Given the description of an element on the screen output the (x, y) to click on. 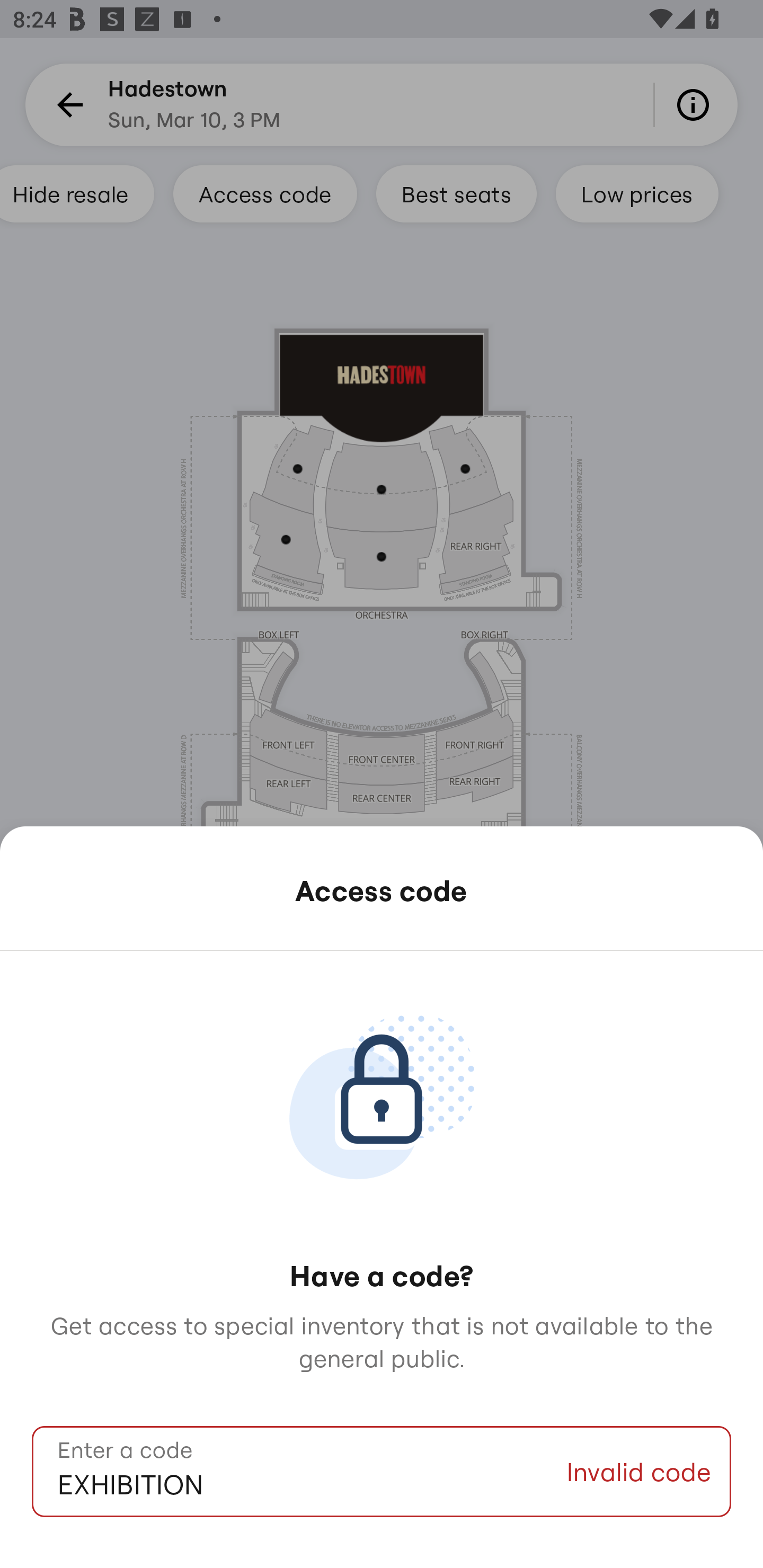
EXHIBITION Enter a code (299, 1471)
